Given the description of an element on the screen output the (x, y) to click on. 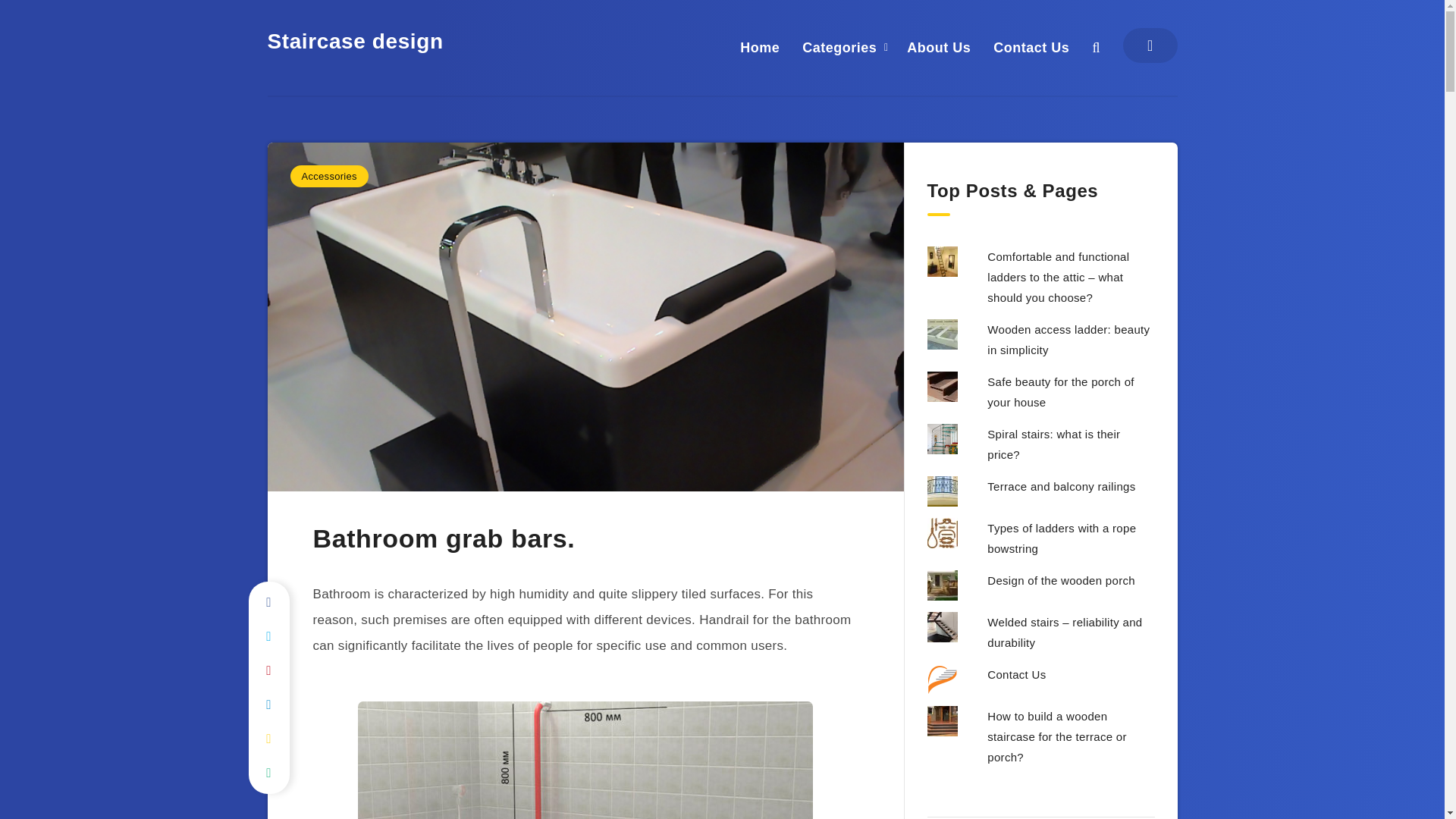
Home (758, 47)
About Us (939, 47)
Staircase design (354, 41)
Accessories (328, 176)
Categories (839, 47)
Contact Us (1030, 47)
